Given the description of an element on the screen output the (x, y) to click on. 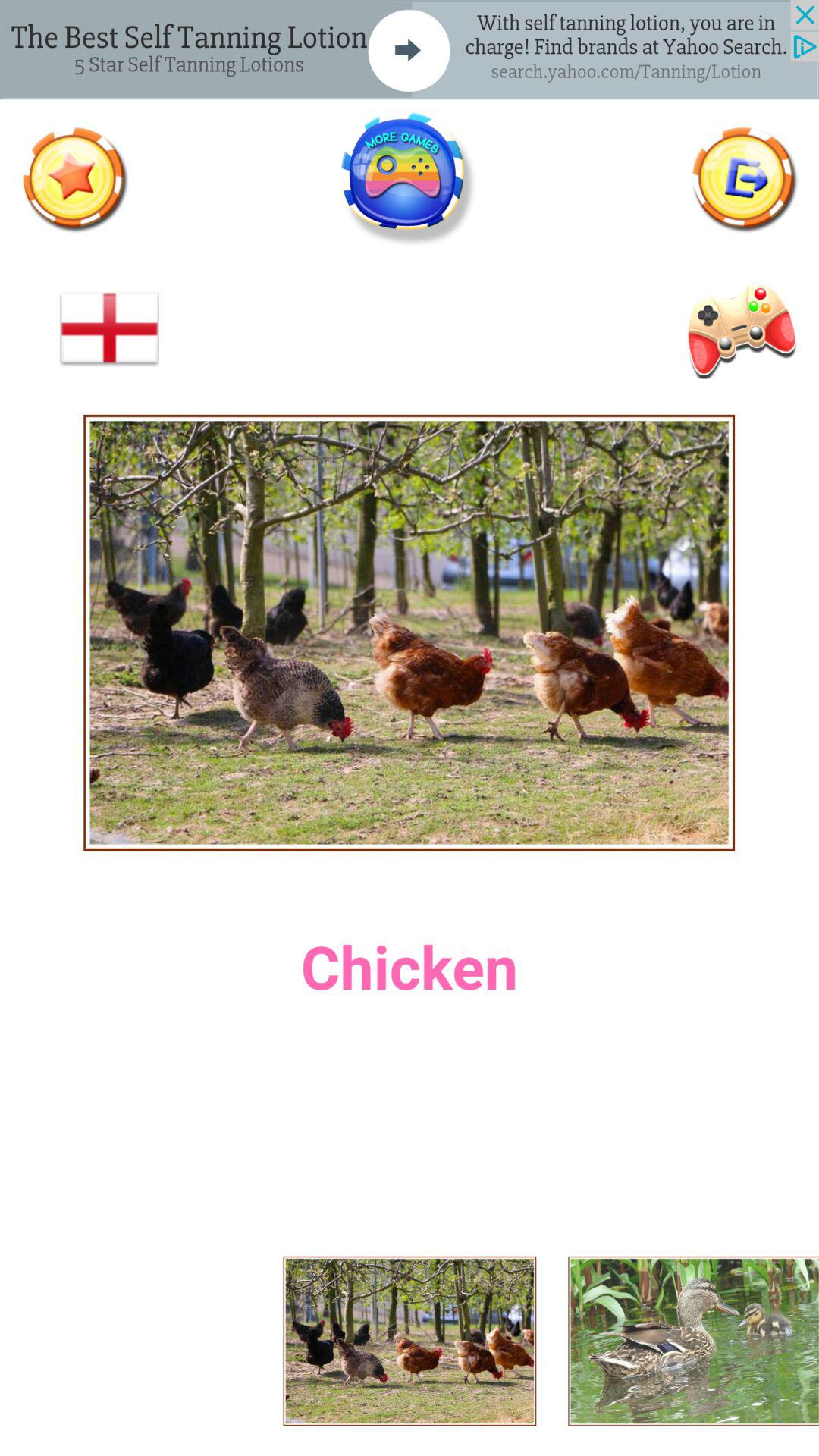
video game (739, 328)
